Given the description of an element on the screen output the (x, y) to click on. 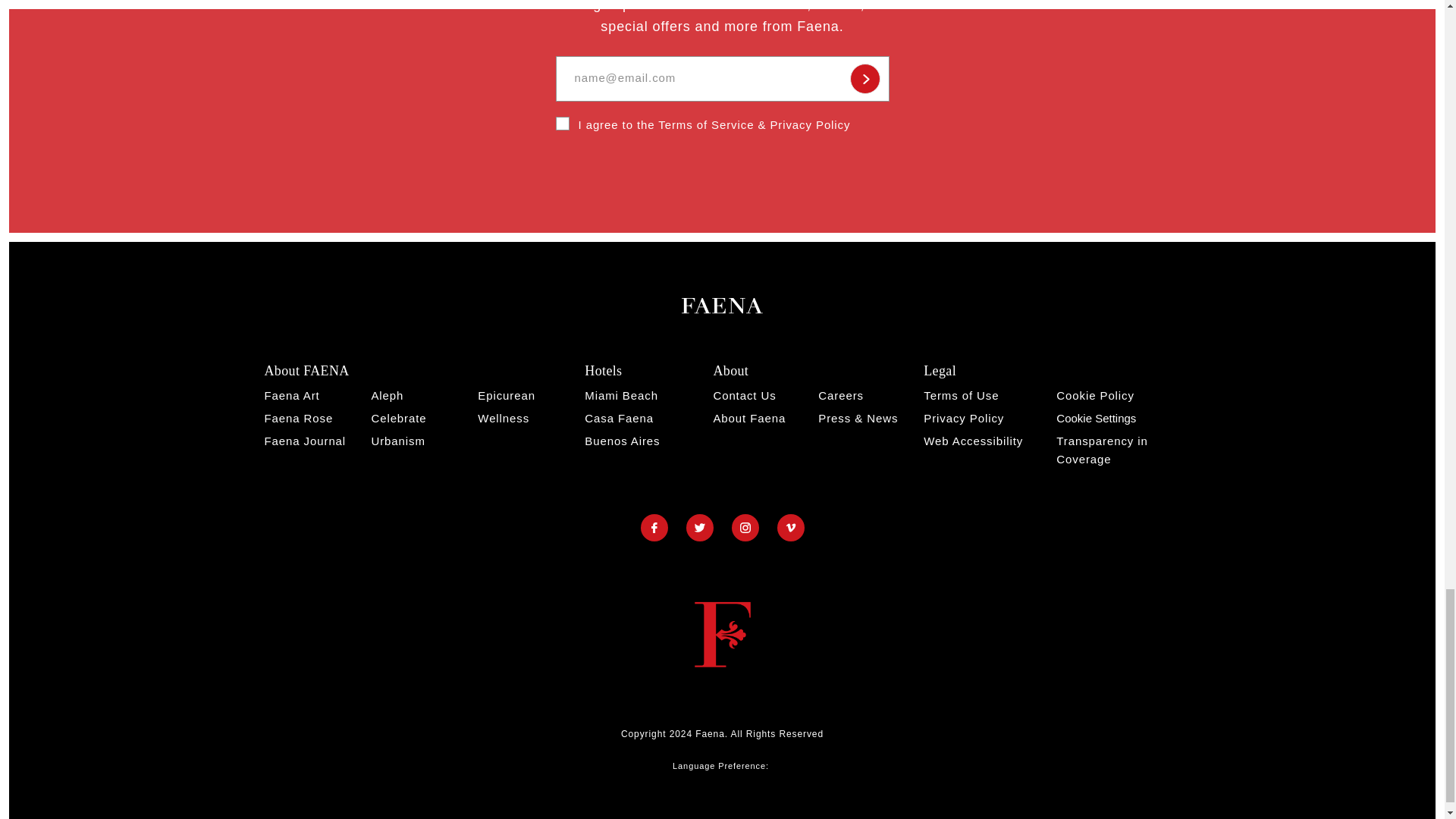
Submit (863, 78)
Urbanism (398, 440)
Celebrate (398, 418)
Hotels (603, 370)
Wellness (503, 418)
Epicurean (506, 395)
Faena Rose (298, 418)
Aleph (387, 395)
Faena Journal (304, 440)
Faena Art (290, 395)
1 (561, 123)
Submit (863, 78)
Miami Beach (621, 395)
Casa Faena (619, 418)
About FAENA (306, 370)
